Given the description of an element on the screen output the (x, y) to click on. 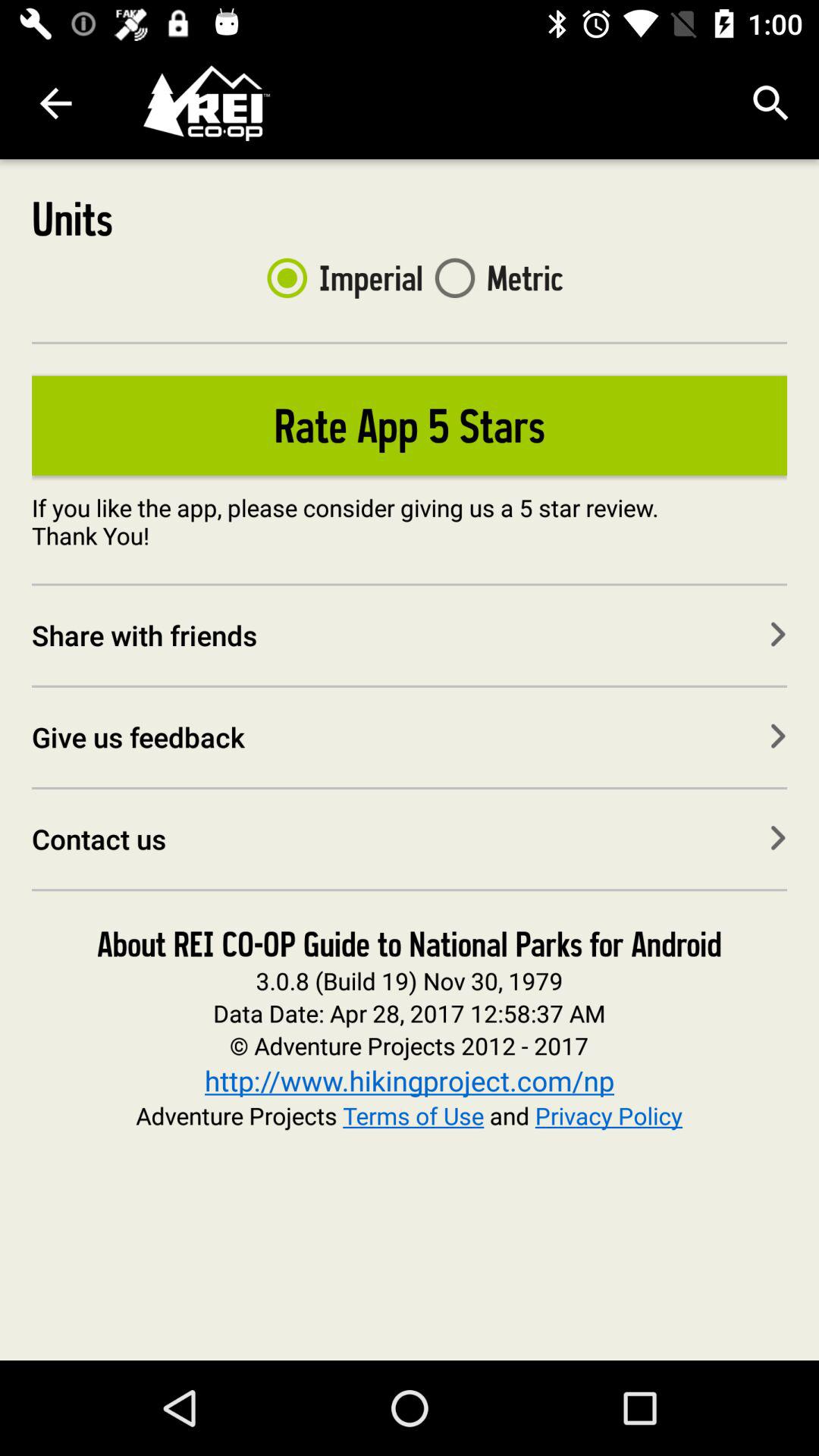
choose the item to the left of the metric (339, 277)
